Given the description of an element on the screen output the (x, y) to click on. 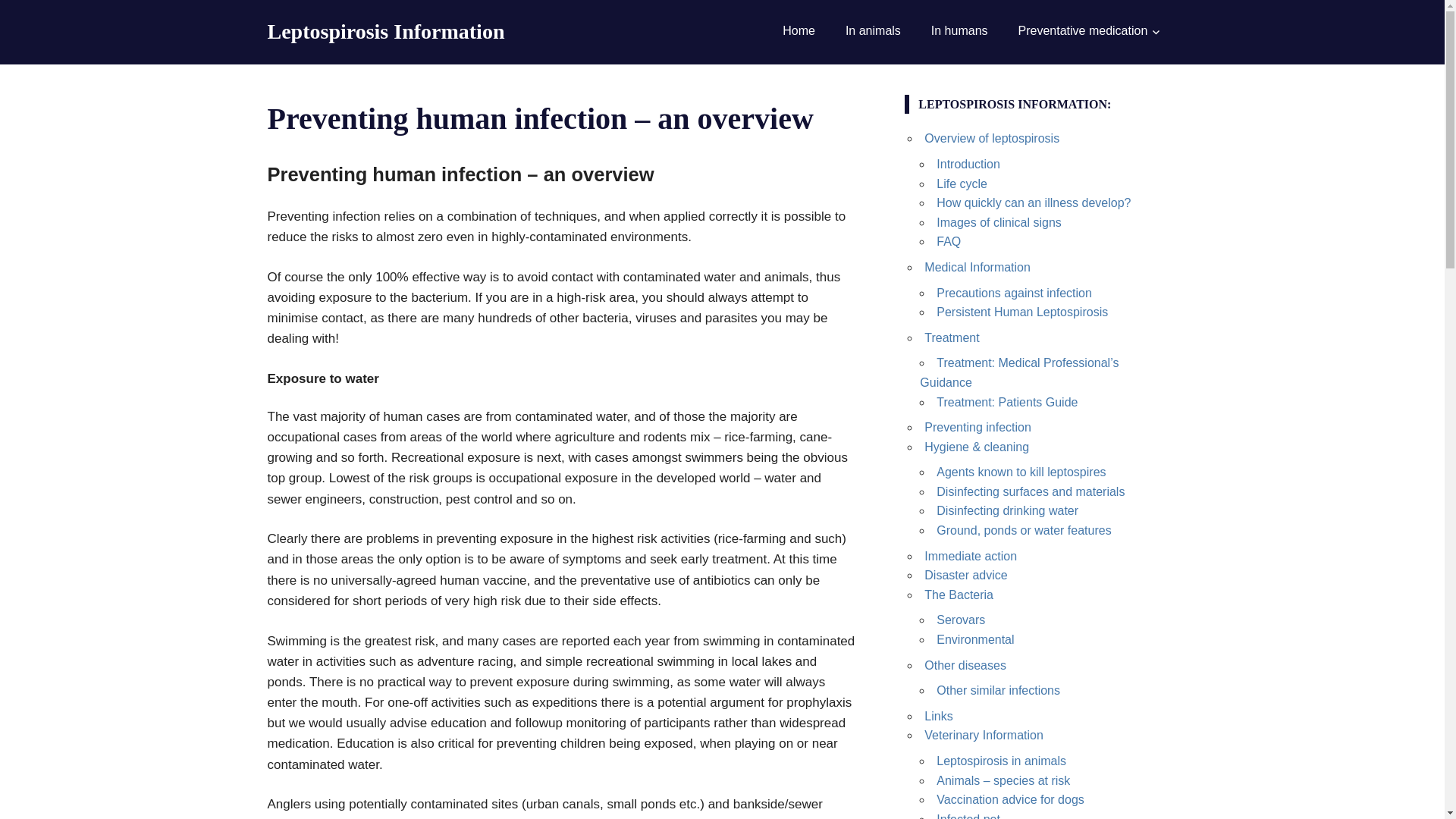
Other diseases (965, 665)
Home (798, 30)
Serovars (960, 619)
In animals (872, 30)
Disinfecting drinking water (1007, 510)
Vaccination advice for dogs (1009, 799)
Links (938, 716)
Immediate action (970, 555)
Images of clinical signs (998, 222)
Ground, ponds or water features (1023, 530)
